Given the description of an element on the screen output the (x, y) to click on. 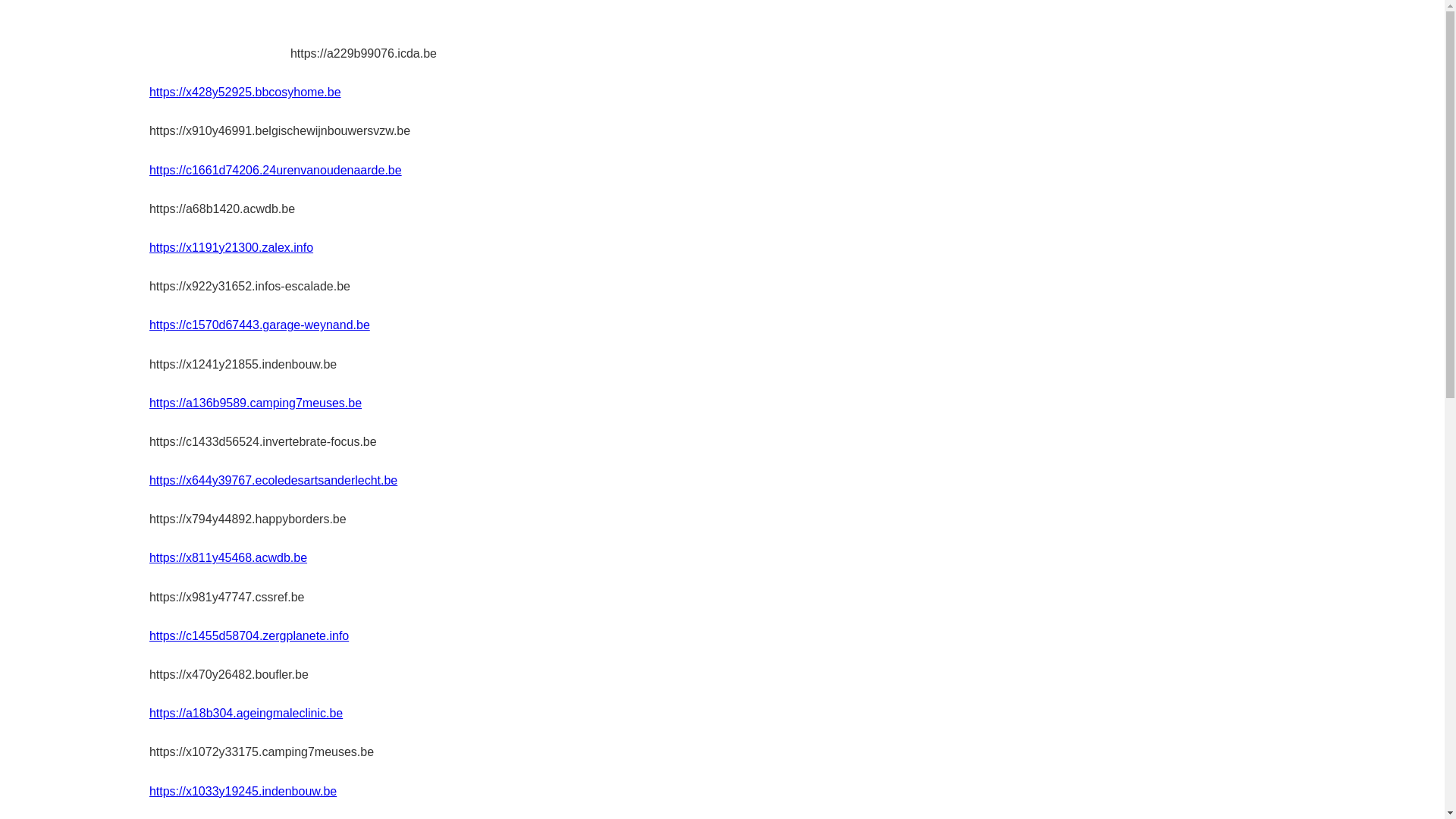
https://a136b9589.camping7meuses.be Element type: text (255, 402)
https://x1033y19245.indenbouw.be Element type: text (242, 790)
https://x644y39767.ecoledesartsanderlecht.be Element type: text (273, 479)
https://x1191y21300.zalex.info Element type: text (231, 247)
https://x428y52925.bbcosyhome.be Element type: text (245, 91)
https://c1455d58704.zergplanete.info Element type: text (248, 635)
https://a18b304.ageingmaleclinic.be Element type: text (245, 712)
https://c1661d74206.24urenvanoudenaarde.be Element type: text (275, 169)
cirquedelalune.be Element type: text (219, 34)
https://c1570d67443.garage-weynand.be Element type: text (259, 324)
https://x811y45468.acwdb.be Element type: text (228, 557)
